Given the description of an element on the screen output the (x, y) to click on. 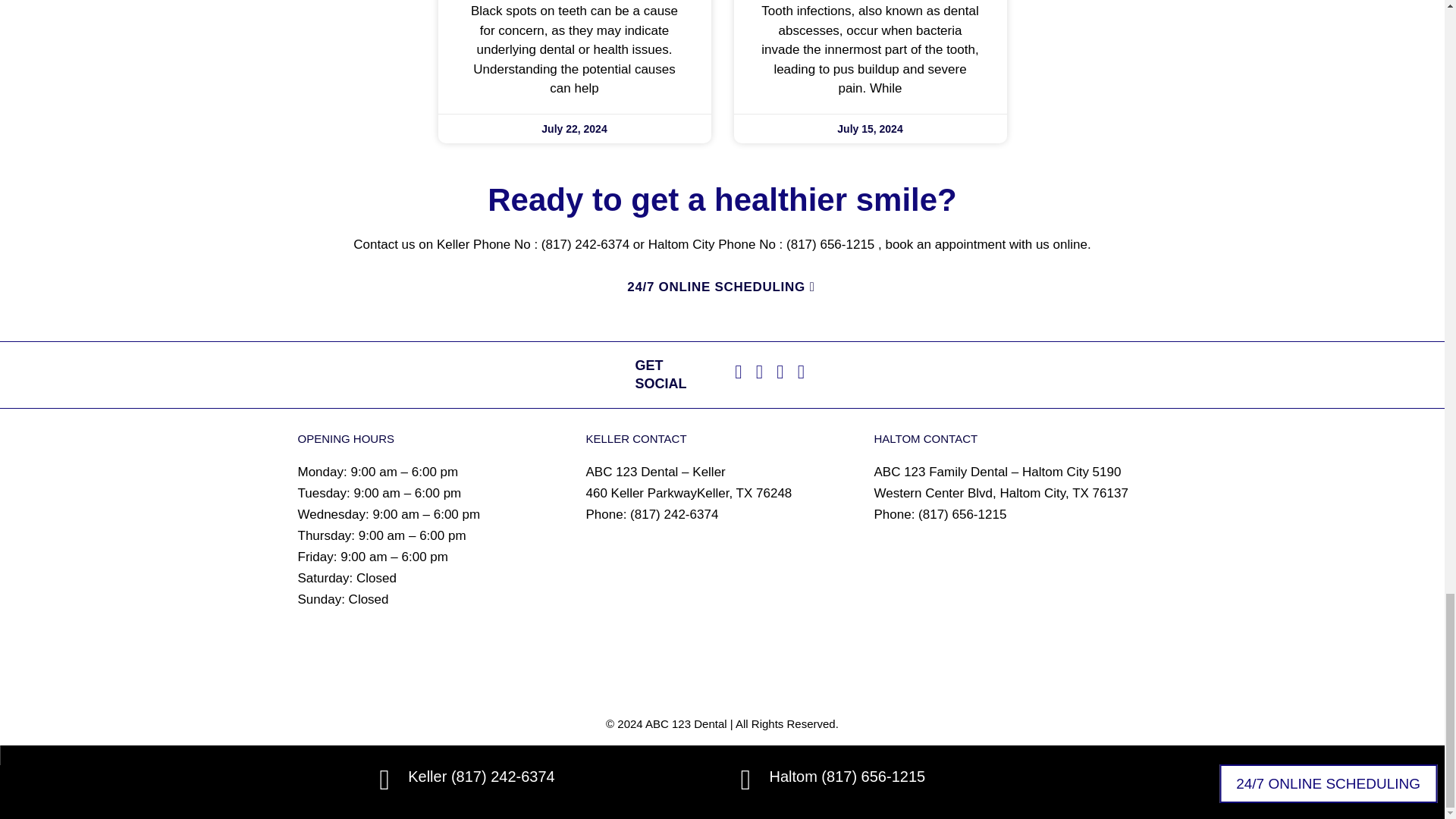
5190 Western Center Blvd, Haltom City, TX 76137 (1010, 618)
ABC 123 Dental - Keller 460 Keller ParkwayKeller,TX76248 (722, 596)
